Given the description of an element on the screen output the (x, y) to click on. 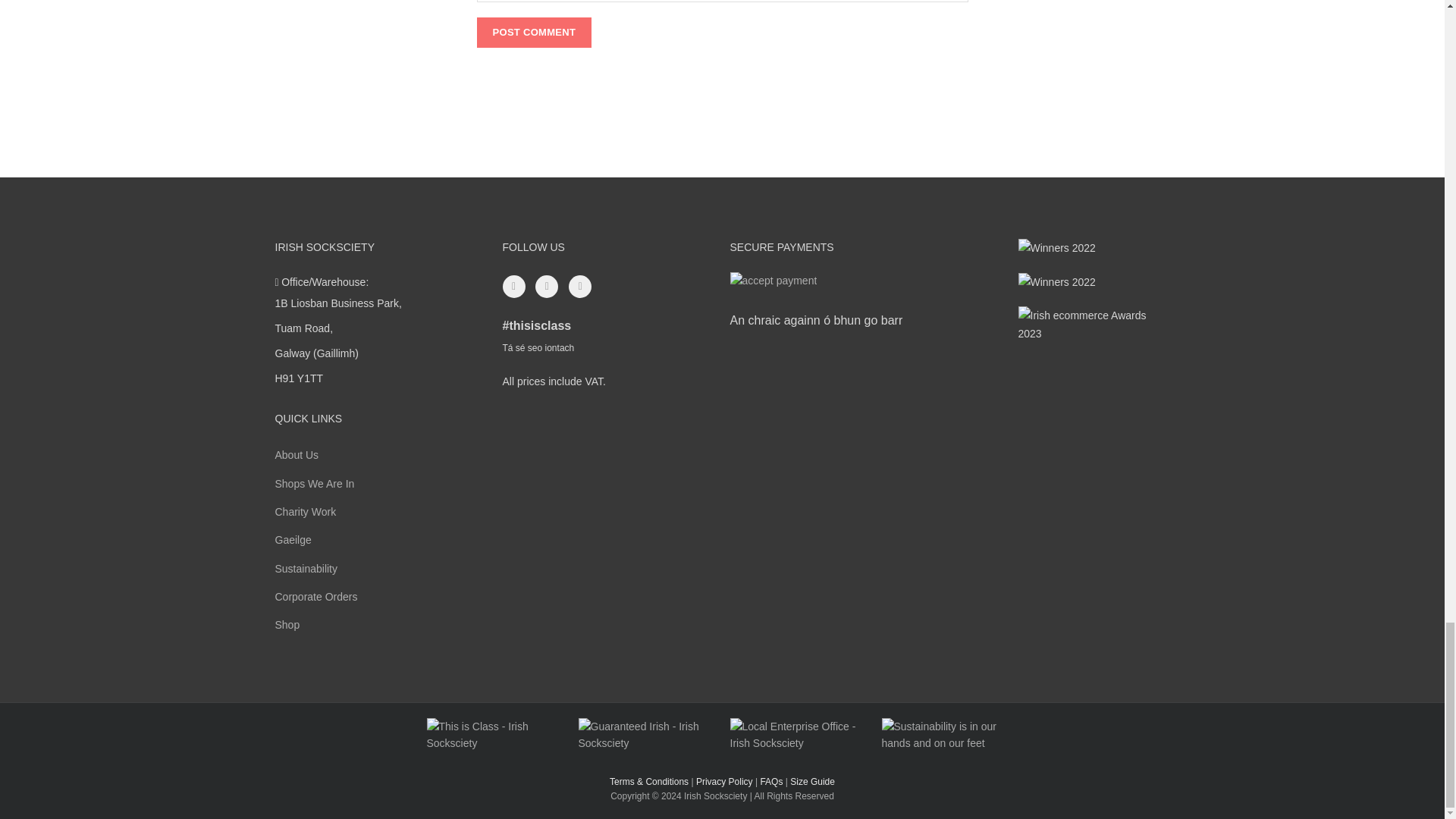
Post Comment (533, 32)
